Given the description of an element on the screen output the (x, y) to click on. 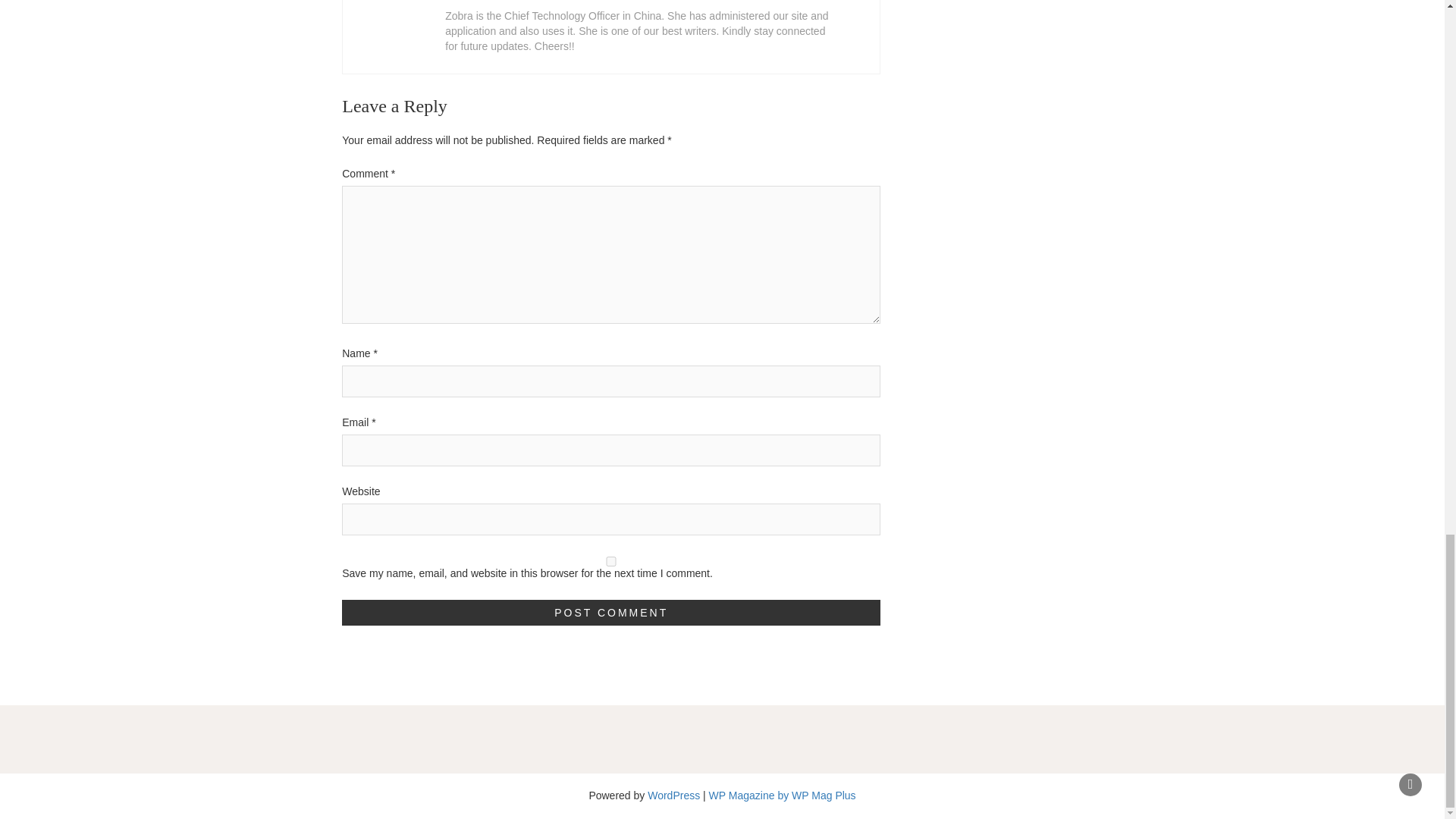
yes (611, 561)
Post Comment (611, 612)
Post Comment (611, 612)
